Given the description of an element on the screen output the (x, y) to click on. 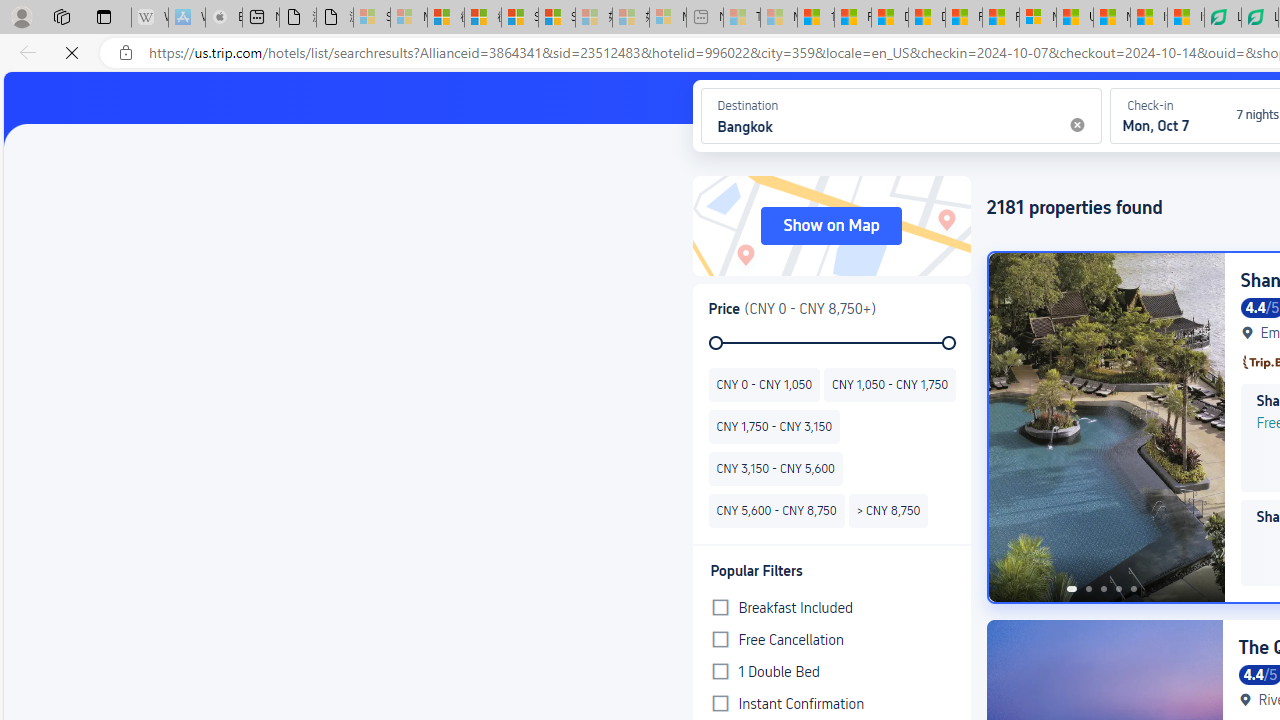
Destination (746, 116)
Buy iPad - Apple - Sleeping (223, 17)
